Given the description of an element on the screen output the (x, y) to click on. 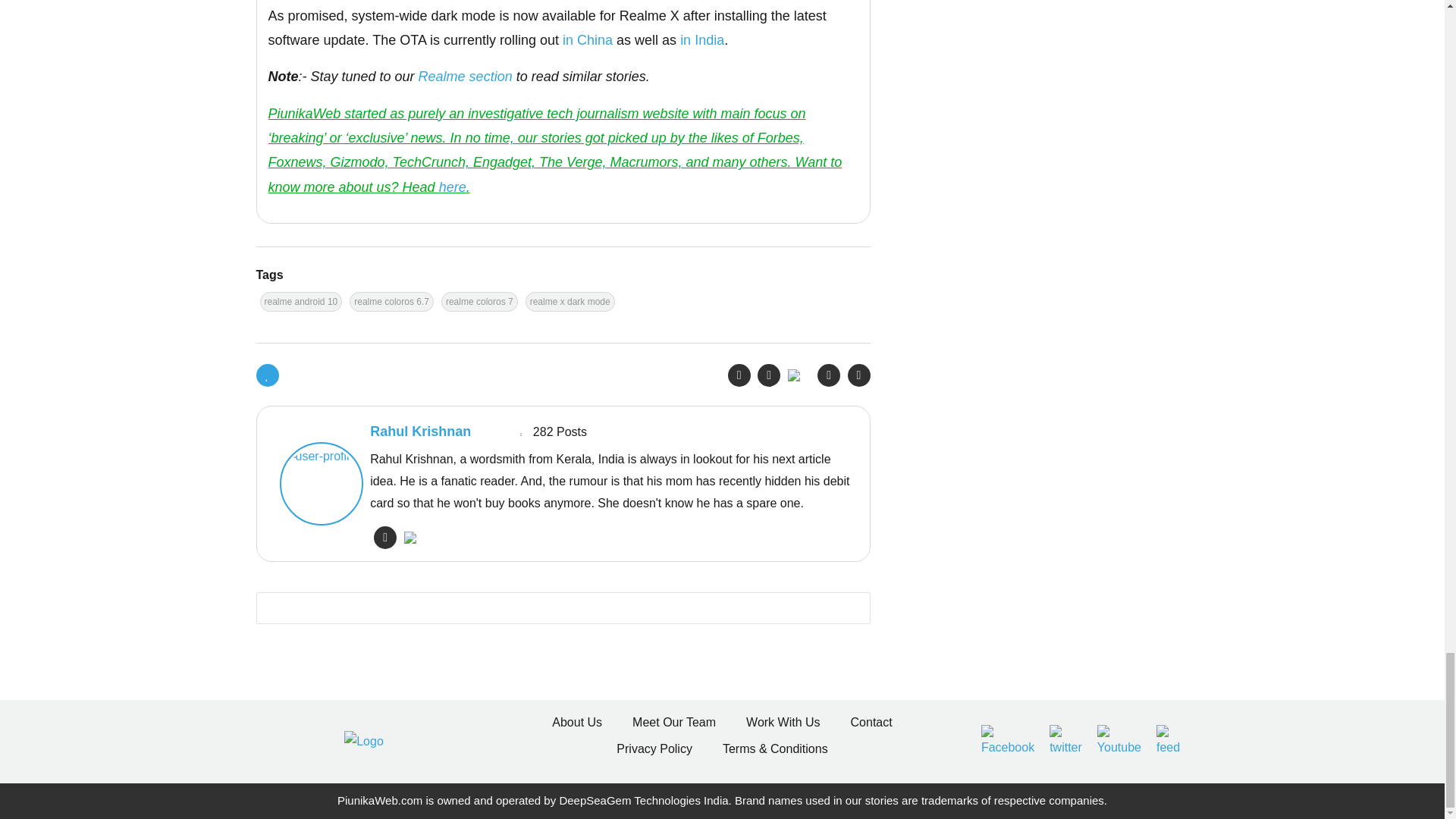
realme coloros 7 (479, 301)
X (1065, 740)
realme x dark mode (569, 301)
Love (267, 374)
Rahul Krishnan (317, 483)
realme coloros 6.7 (391, 301)
YouTube (1119, 740)
realme android 10 (300, 301)
Feed (1167, 740)
Facebook (1007, 740)
